Given the description of an element on the screen output the (x, y) to click on. 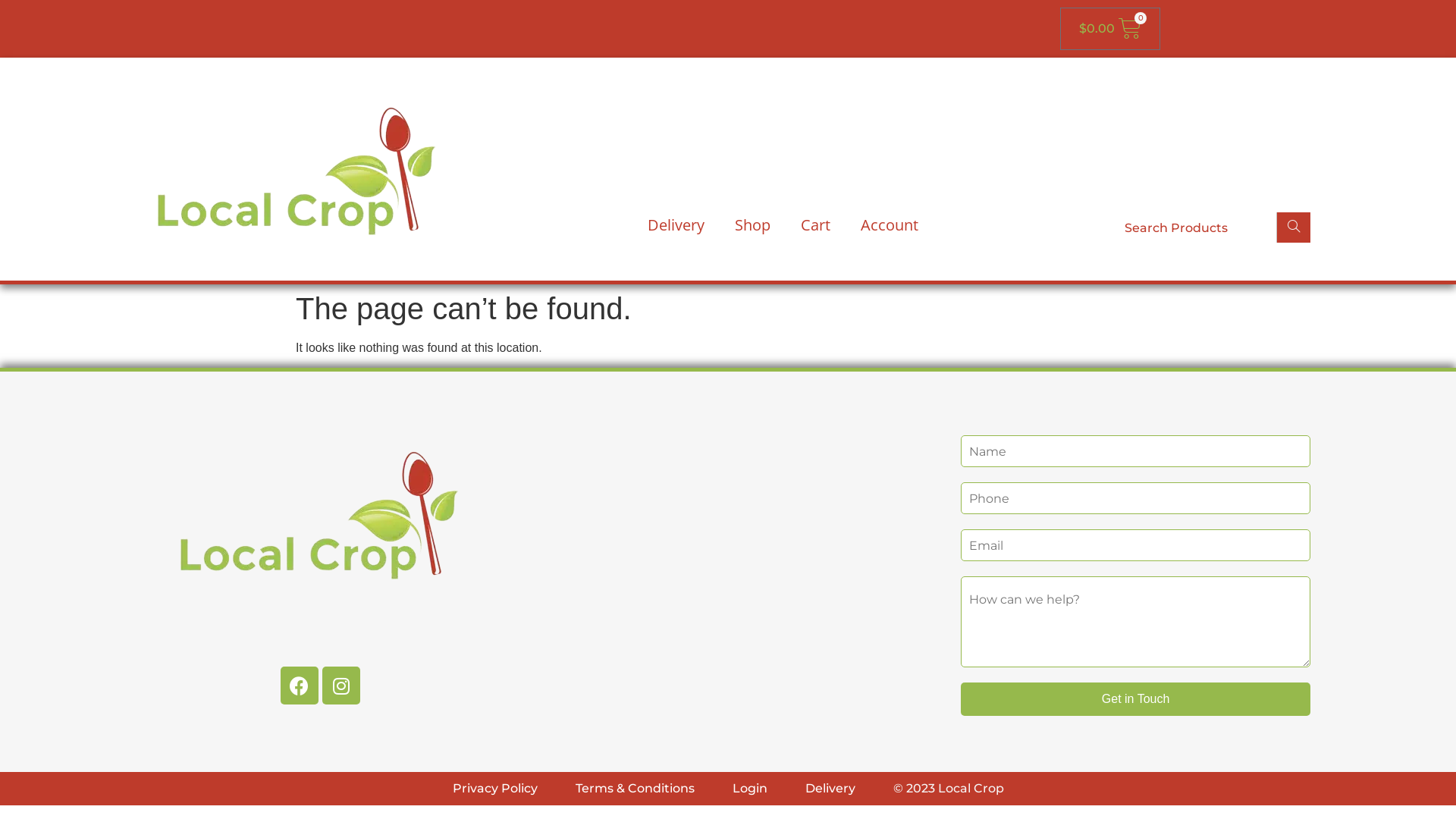
Terms & Conditions Element type: text (633, 788)
Search Element type: text (1293, 227)
Delivery Element type: text (830, 788)
Get in Touch Element type: text (1135, 698)
Delivery Element type: text (675, 224)
Login Element type: text (749, 788)
Privacy Policy Element type: text (493, 788)
Cart Element type: text (815, 224)
$0.00
0 Element type: text (1110, 28)
Account Element type: text (889, 224)
Shop Element type: text (752, 224)
